Given the description of an element on the screen output the (x, y) to click on. 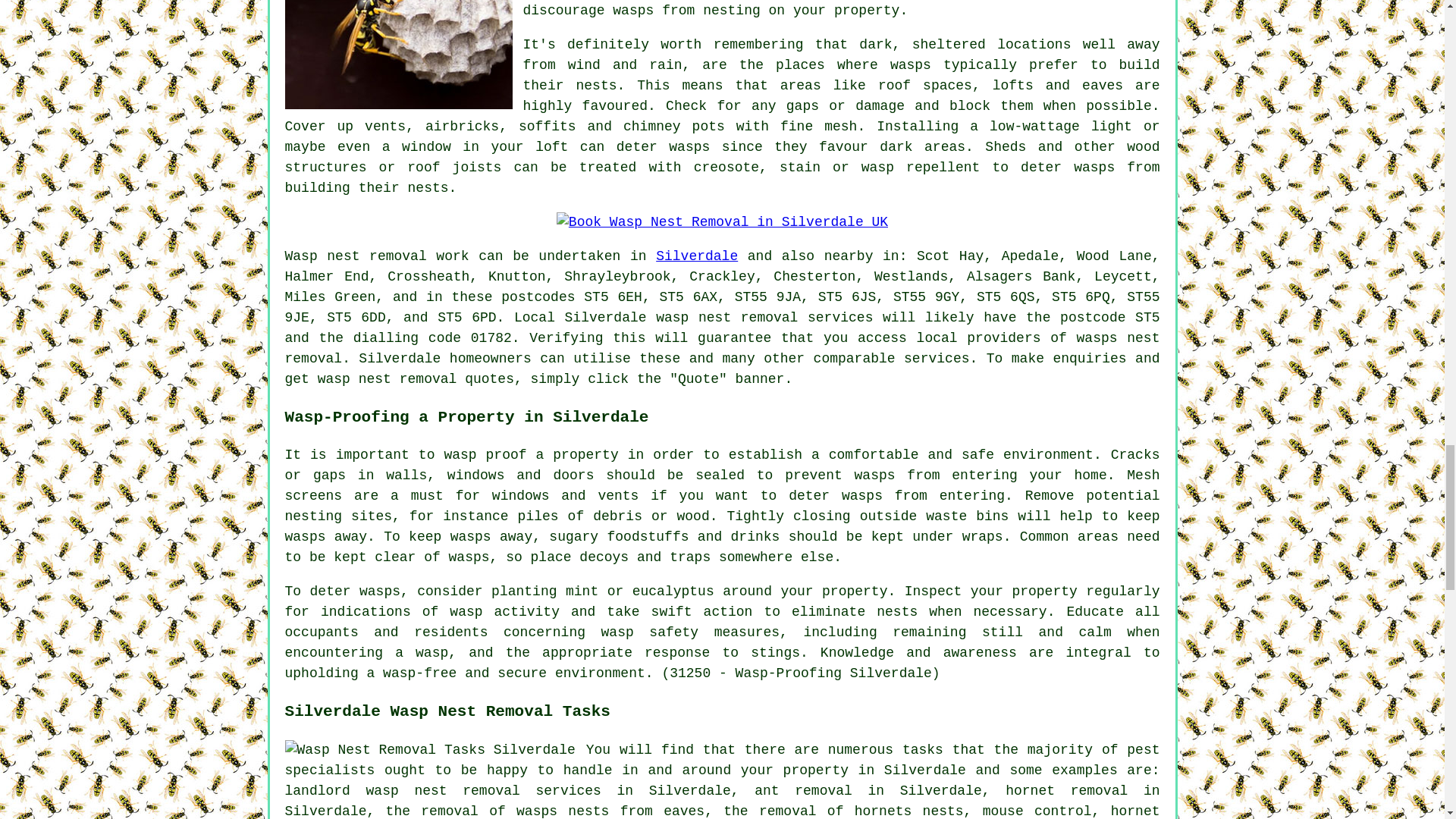
Book Wasp Nest Removal in Silverdale UK (722, 222)
wasp nest removal services (764, 317)
pest specialists (722, 760)
Wasp Nest Removal Tasks Silverdale (430, 750)
Wasp nest removal (355, 255)
wasps nest removal (722, 348)
